Given the description of an element on the screen output the (x, y) to click on. 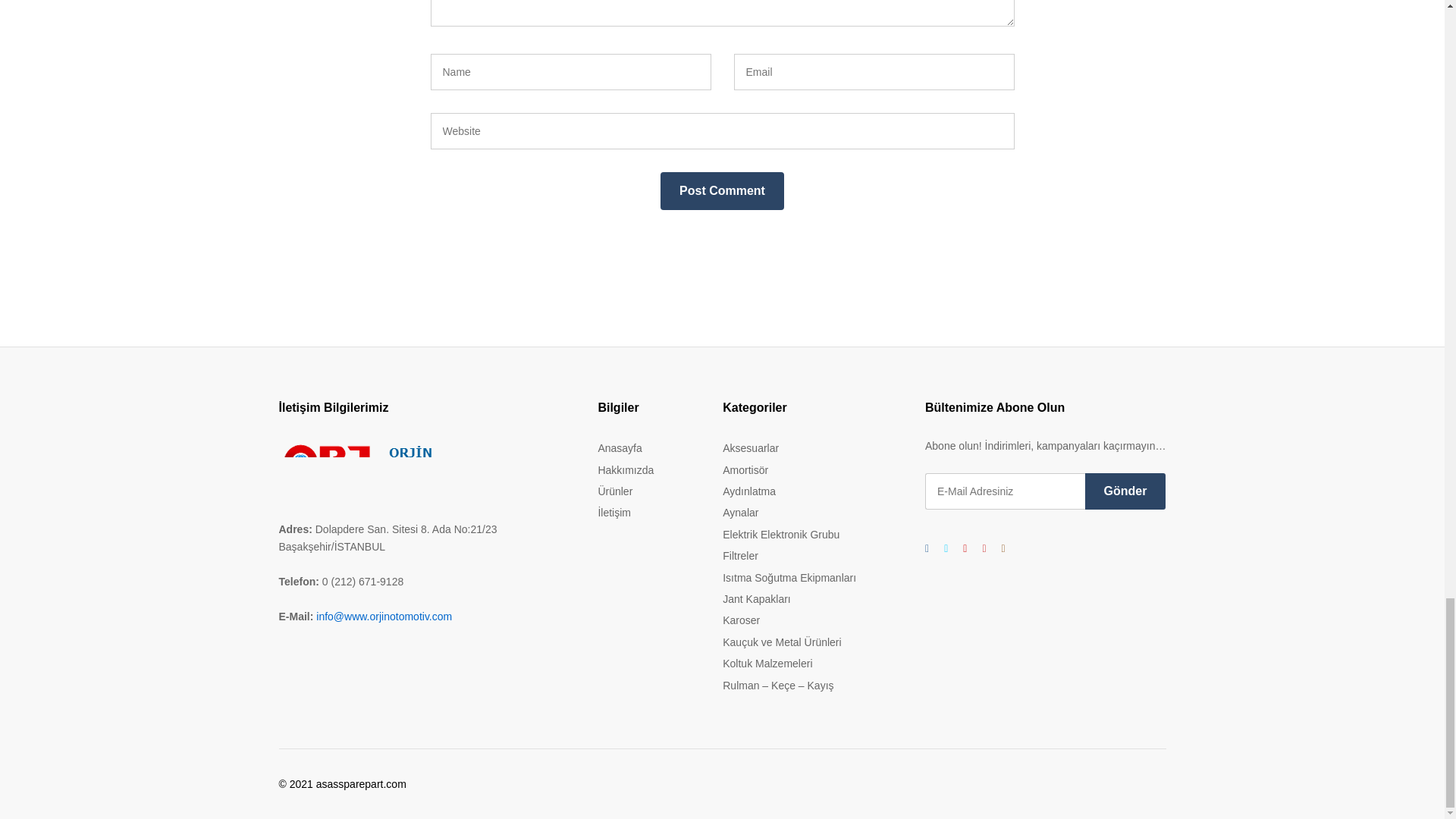
Twitter (945, 547)
Facebook (926, 547)
Youtube (983, 547)
Post Comment (722, 190)
Google Plus (964, 547)
Instagram (1001, 547)
